Given the description of an element on the screen output the (x, y) to click on. 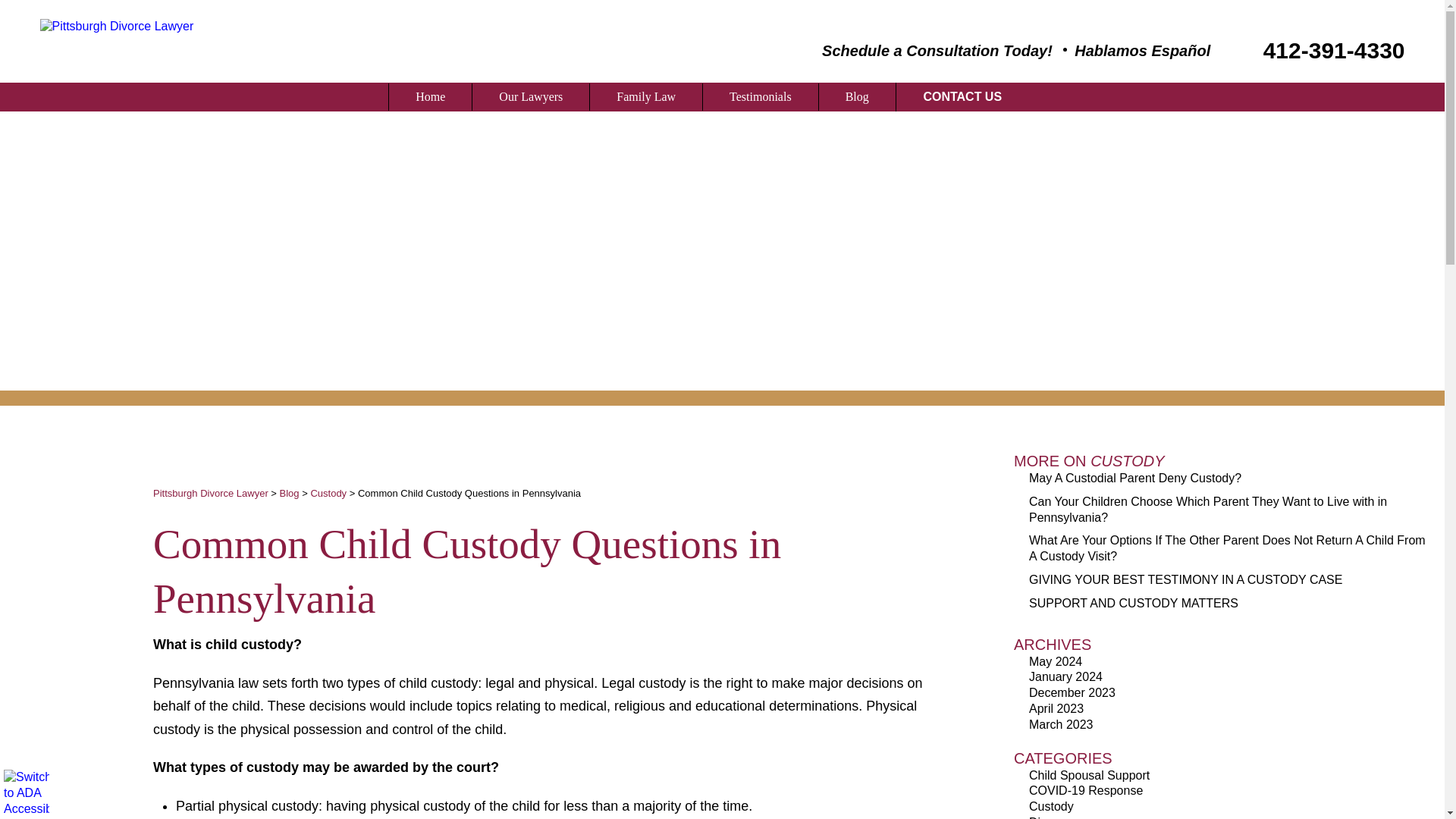
Family Law (645, 96)
Switch to ADA Accessible Theme (26, 791)
412-391-4330 (1319, 50)
Home (429, 96)
Testimonials (760, 96)
Our Lawyers (530, 96)
